Given the description of an element on the screen output the (x, y) to click on. 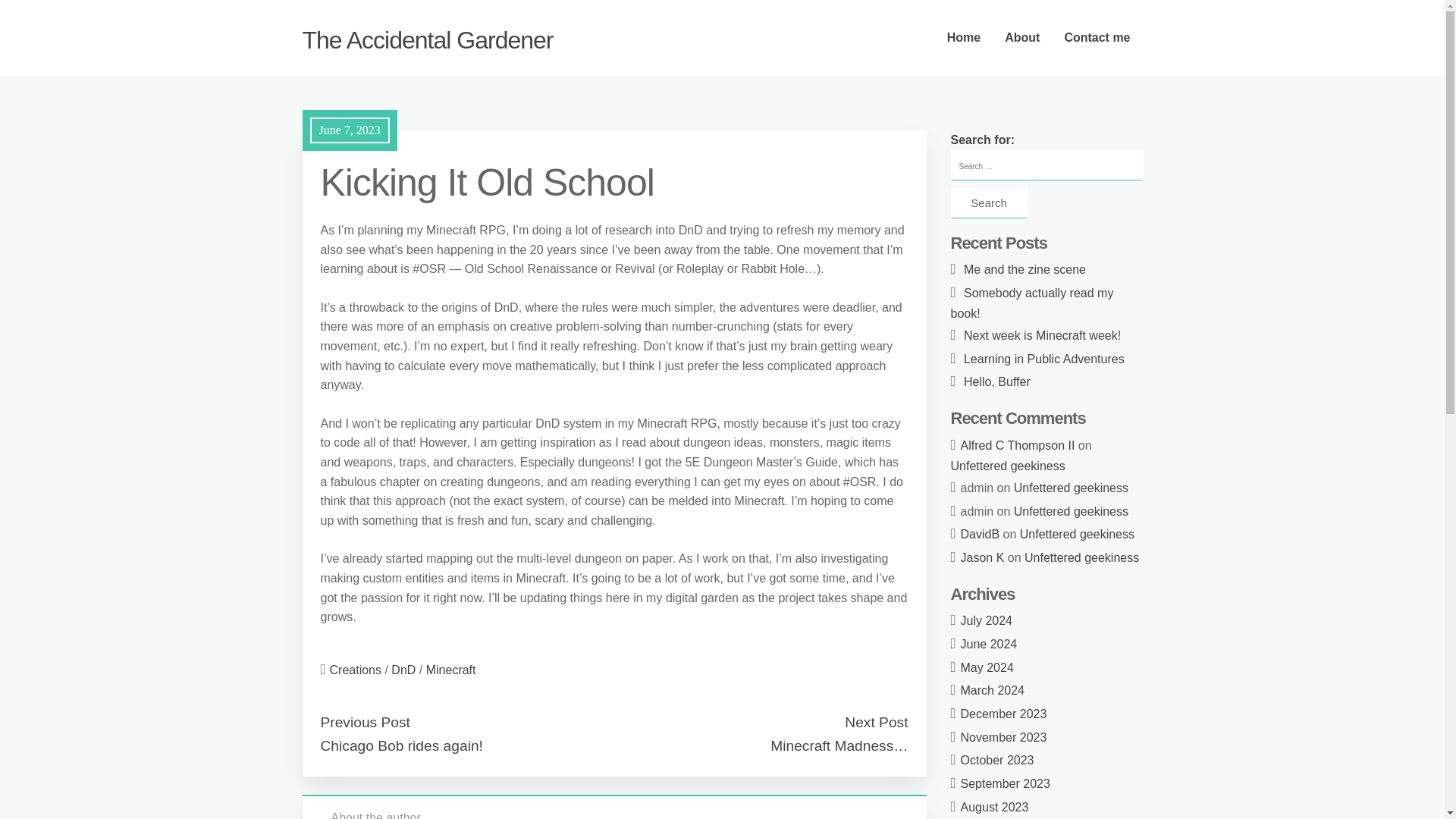
DavidB (980, 533)
Chicago Bob rides again! (400, 745)
May 2024 (986, 667)
July 2024 (986, 620)
Alfred C Thompson II (1017, 445)
June 2024 (988, 644)
Home (963, 37)
Next week is Minecraft week! (1042, 335)
Learning in Public Adventures (1043, 358)
Creations (355, 669)
Jason K (982, 557)
DnD (402, 669)
Minecraft (451, 669)
Next Post (875, 722)
Unfettered geekiness (1081, 557)
